Given the description of an element on the screen output the (x, y) to click on. 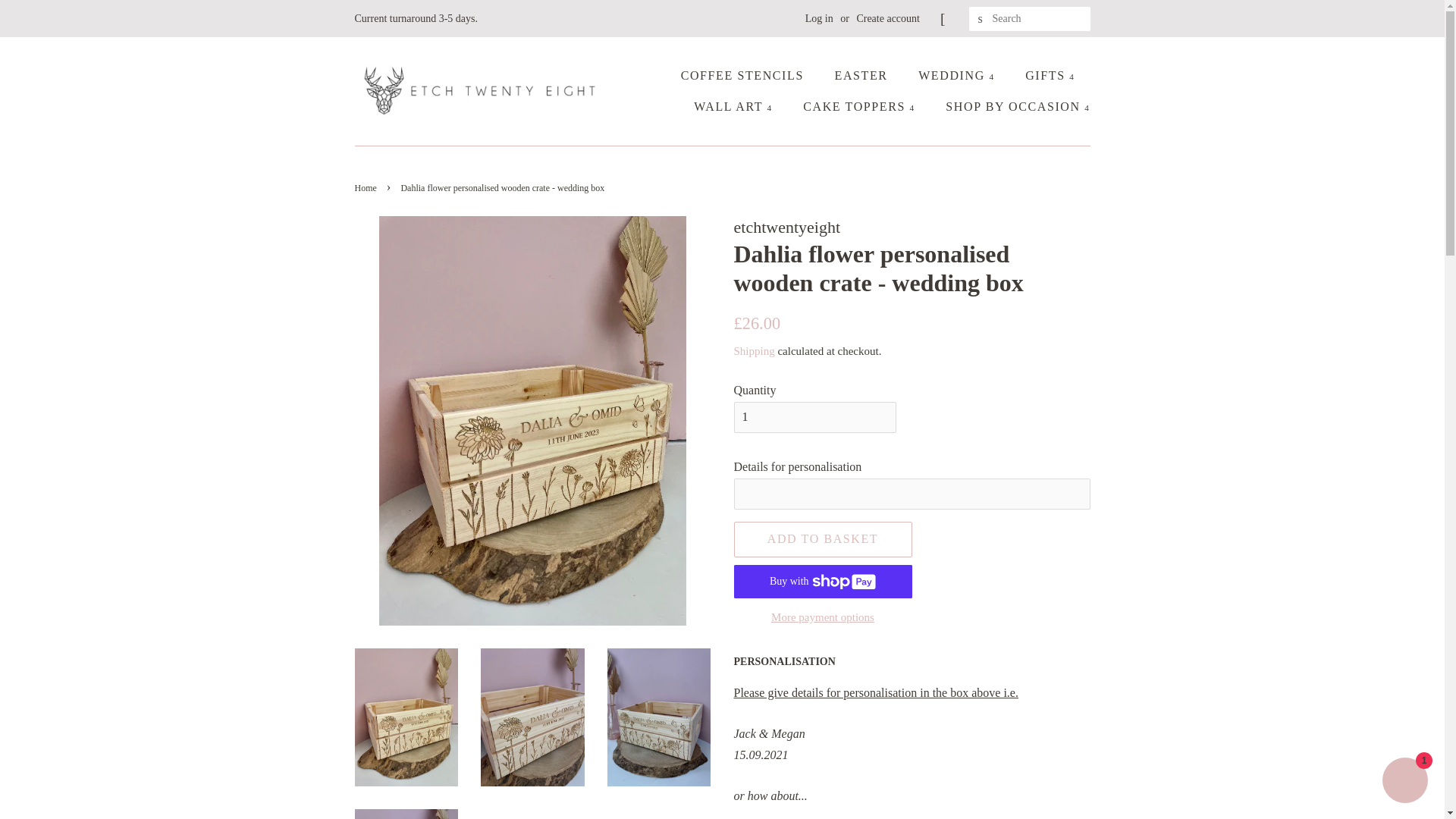
Current turnaround 3-5 days. (417, 18)
Create account (888, 18)
Back to the frontpage (367, 187)
1 (814, 417)
Shopify online store chat (1404, 781)
SEARCH (980, 18)
Log in (818, 18)
